Given the description of an element on the screen output the (x, y) to click on. 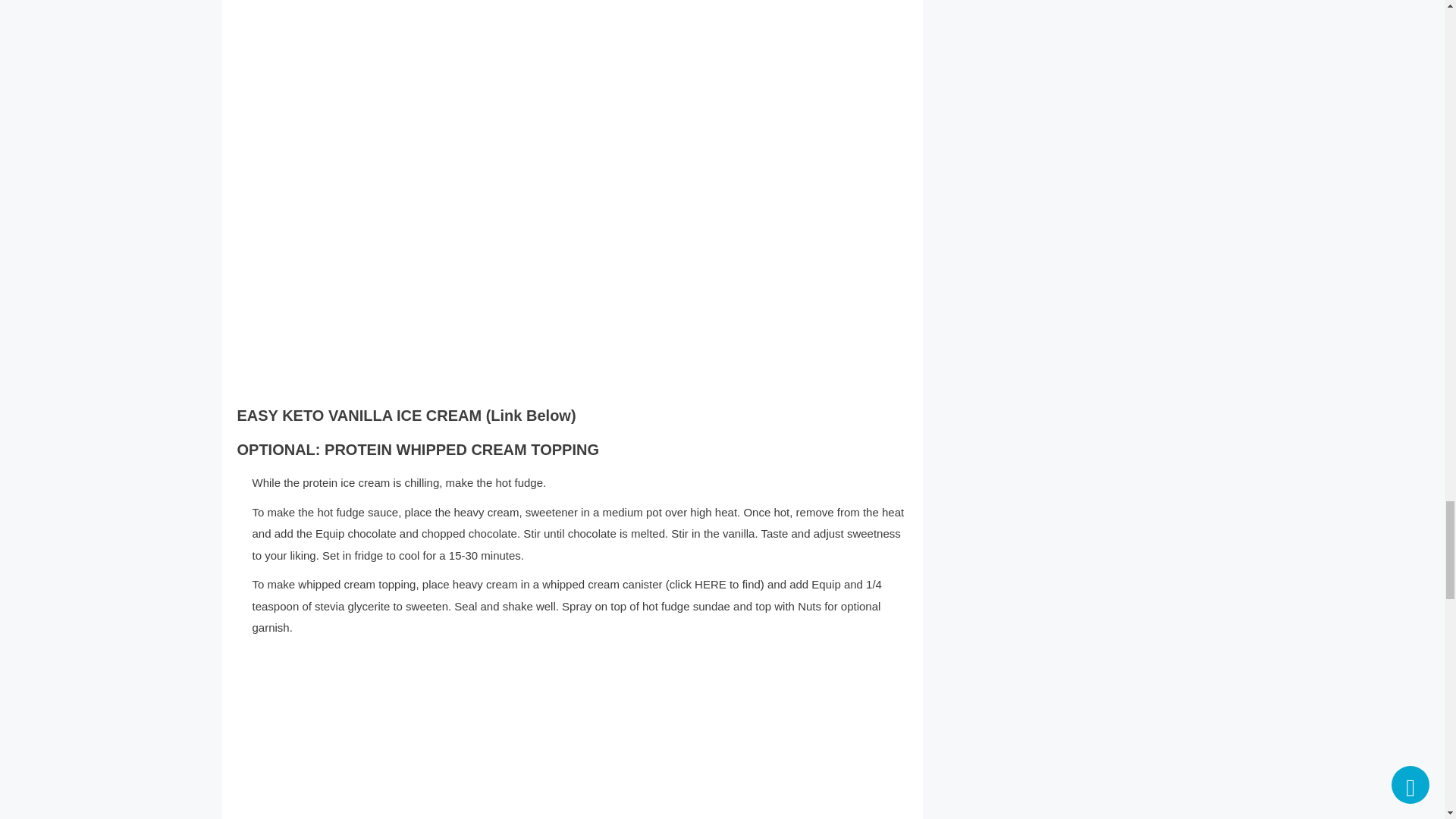
The BEST Keto Hot Fudge Sundae (478, 734)
